Given the description of an element on the screen output the (x, y) to click on. 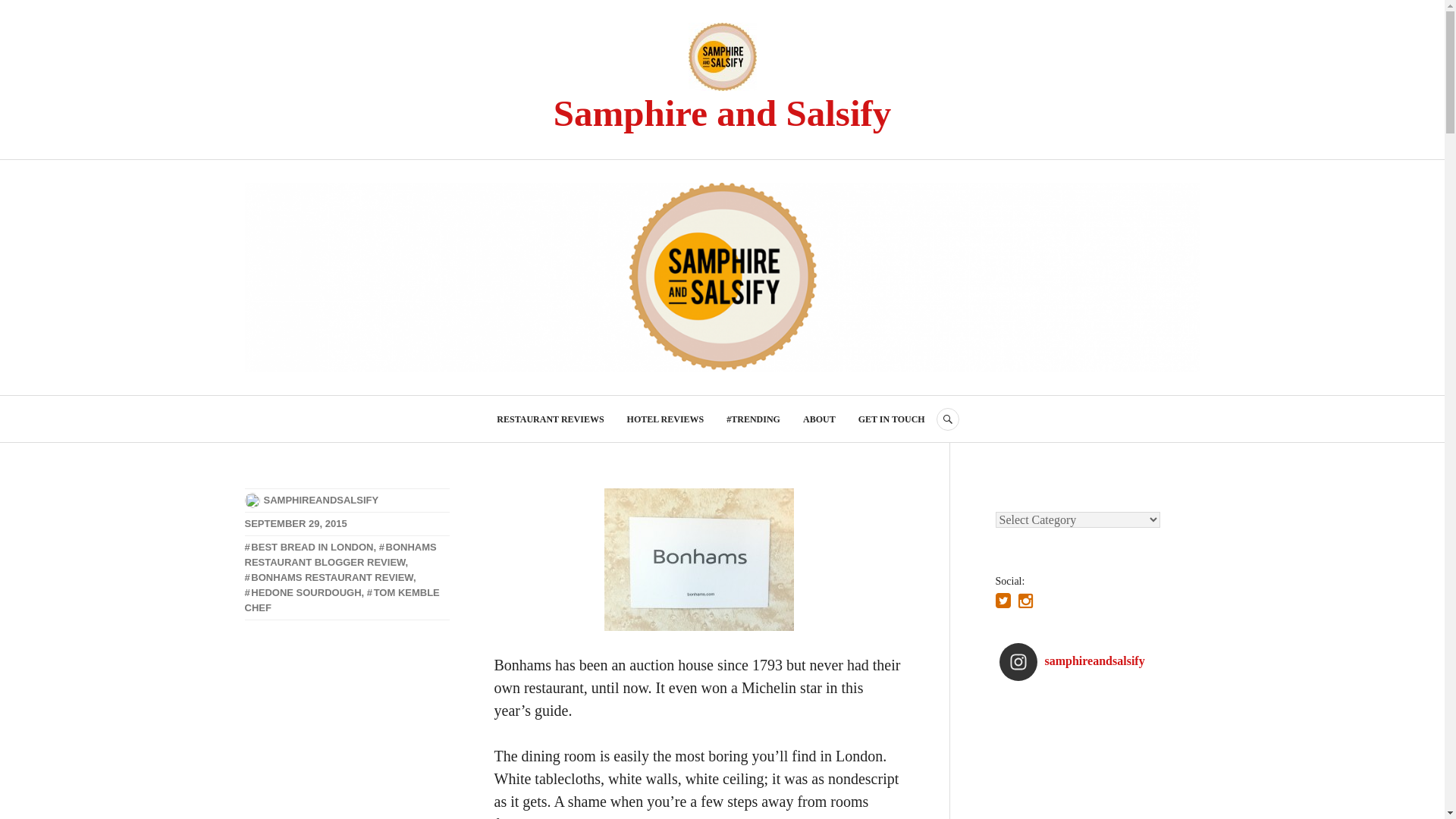
samphireandsalsify (1090, 661)
BEST BREAD IN LONDON (308, 546)
HOTEL REVIEWS (665, 419)
BONHAMS RESTAURANT REVIEW (328, 577)
RESTAURANT REVIEWS (550, 419)
SEPTEMBER 29, 2015 (295, 523)
Samphire and Salsify (722, 113)
SAMPHIREANDSALSIFY (320, 500)
GET IN TOUCH (891, 419)
BONHAMS RESTAURANT BLOGGER REVIEW (339, 554)
